Given the description of an element on the screen output the (x, y) to click on. 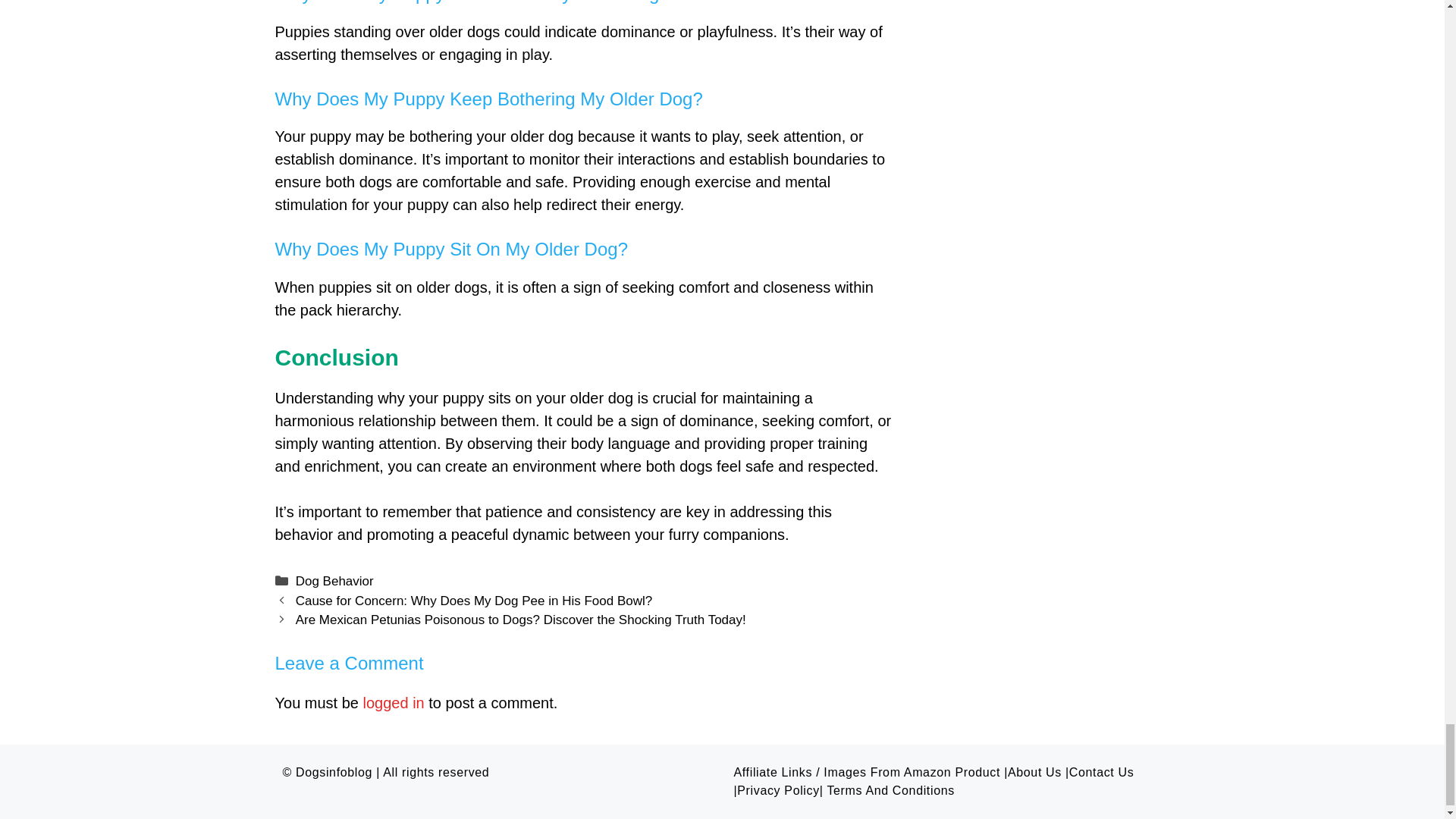
About Us (1034, 771)
logged in (393, 702)
Contact Us (1101, 771)
Dog Behavior (334, 581)
Terms And Conditions (890, 789)
Cause for Concern: Why Does My Dog Pee in His Food Bowl? (473, 600)
